Given the description of an element on the screen output the (x, y) to click on. 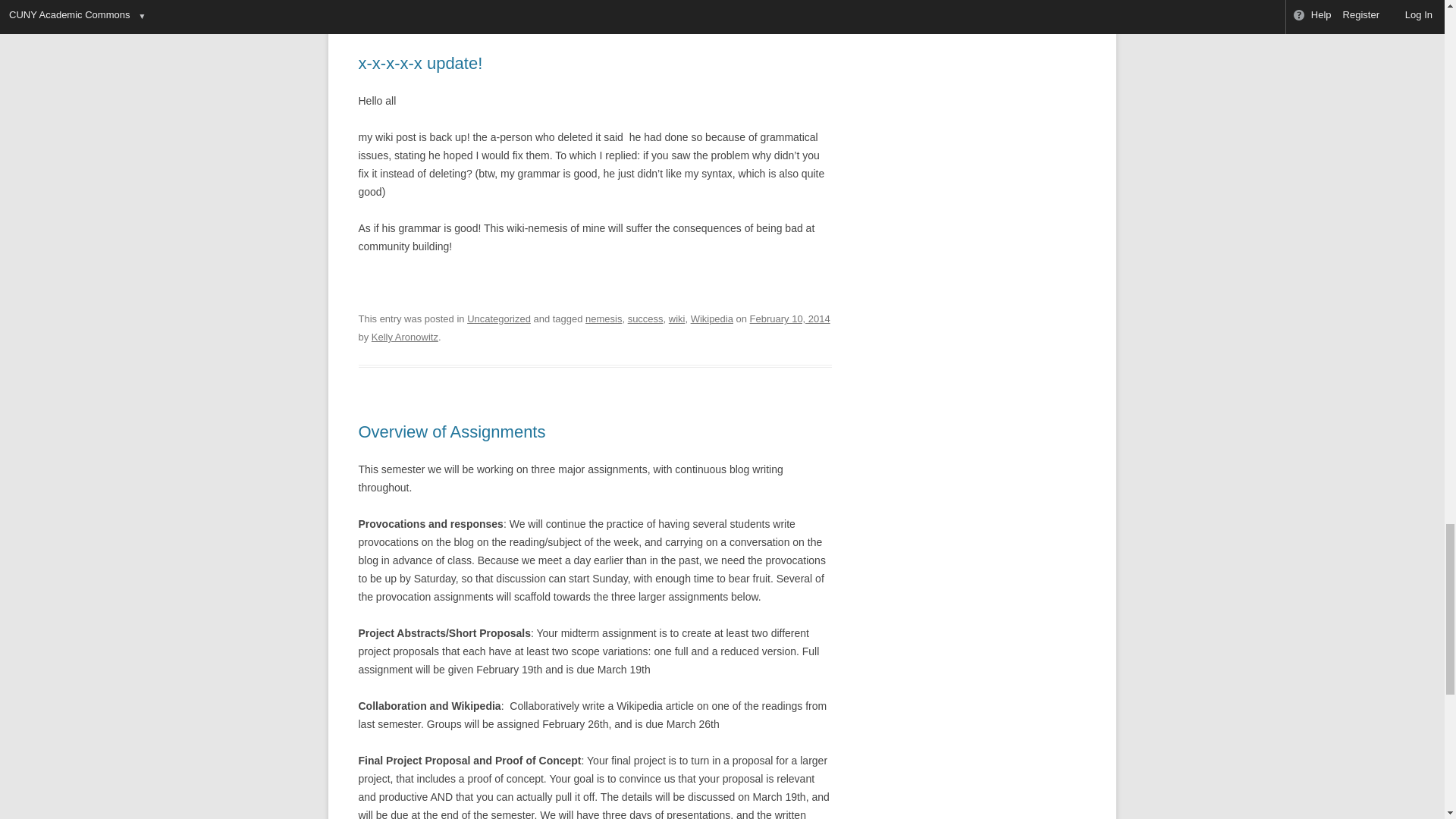
View all posts by Kelly Aronowitz (404, 337)
11:53 am (789, 318)
